Given the description of an element on the screen output the (x, y) to click on. 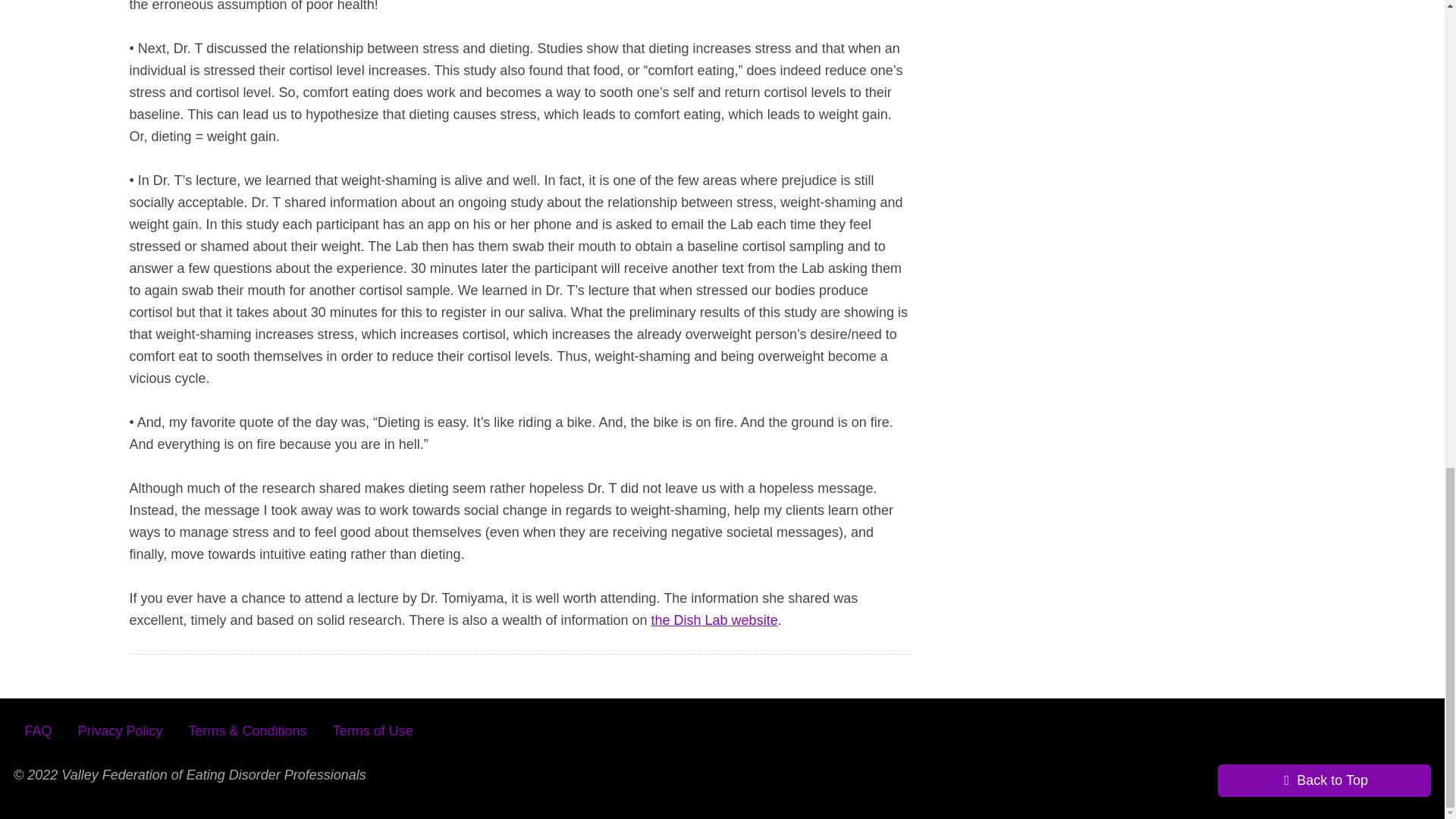
the Dish Lab website (713, 620)
